Given the description of an element on the screen output the (x, y) to click on. 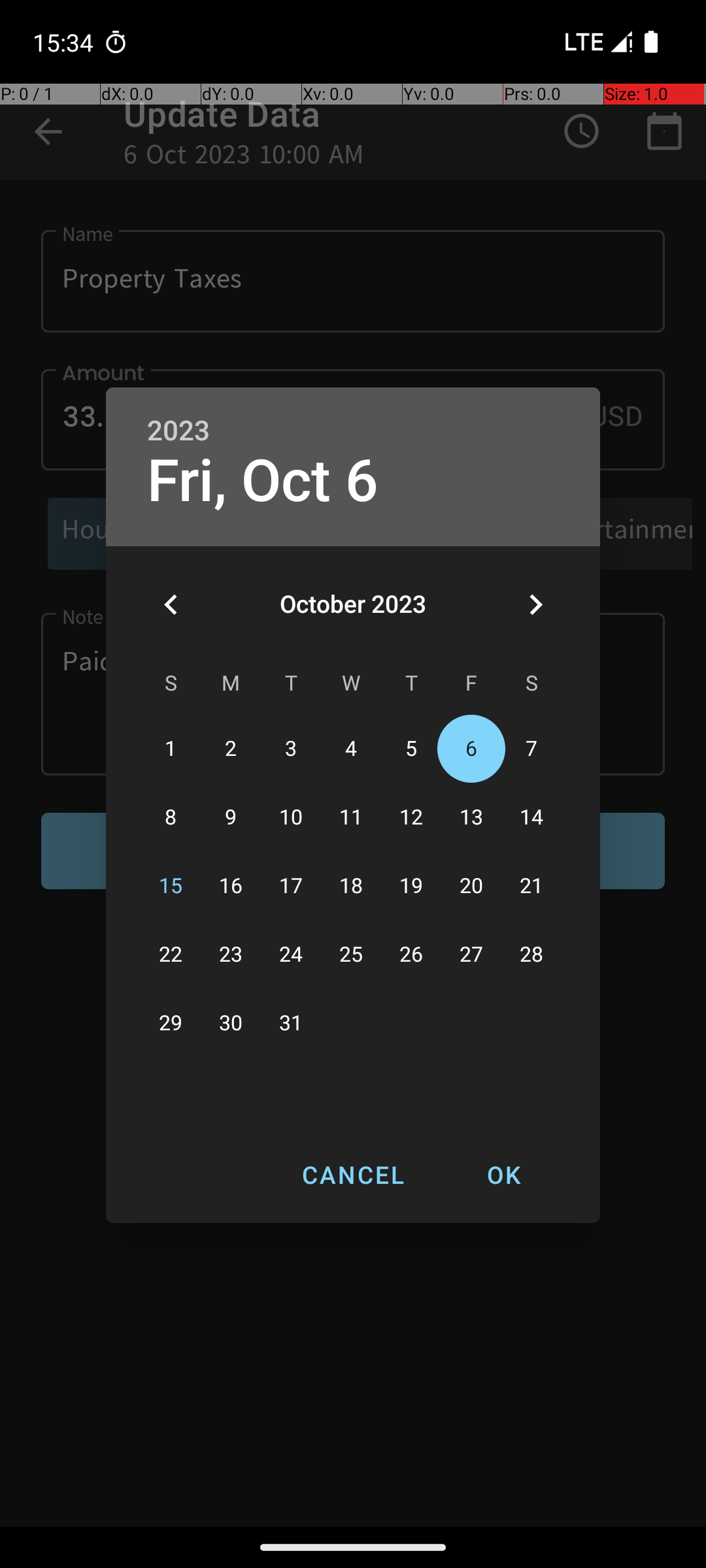
Fri, Oct 6 Element type: android.widget.TextView (262, 480)
